Given the description of an element on the screen output the (x, y) to click on. 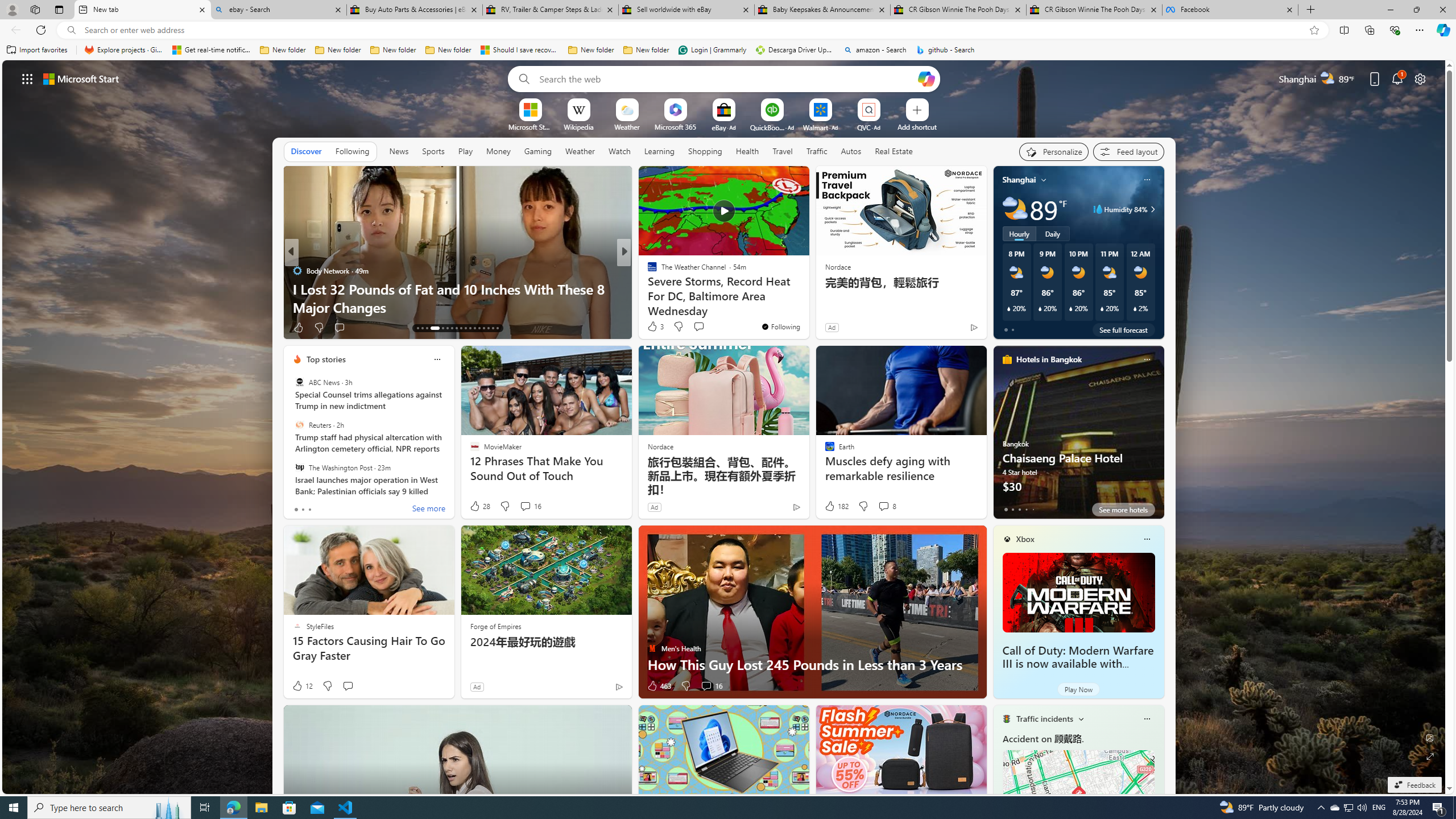
Health (746, 151)
Class: icon-img (1146, 718)
The #1 Best Bench Press Workout To Increase Strength (807, 298)
Feed settings (1128, 151)
Autos (851, 151)
You're following The Weather Channel (780, 326)
Baby Keepsakes & Announcements for sale | eBay (822, 9)
NBC News (647, 270)
Traffic (816, 151)
Traffic (816, 151)
